Given the description of an element on the screen output the (x, y) to click on. 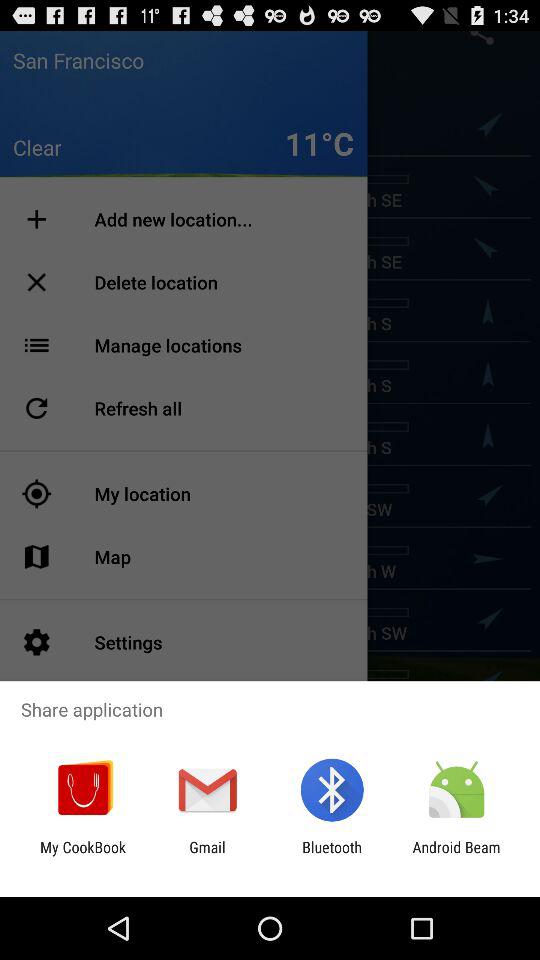
turn on item to the right of the gmail icon (331, 856)
